Given the description of an element on the screen output the (x, y) to click on. 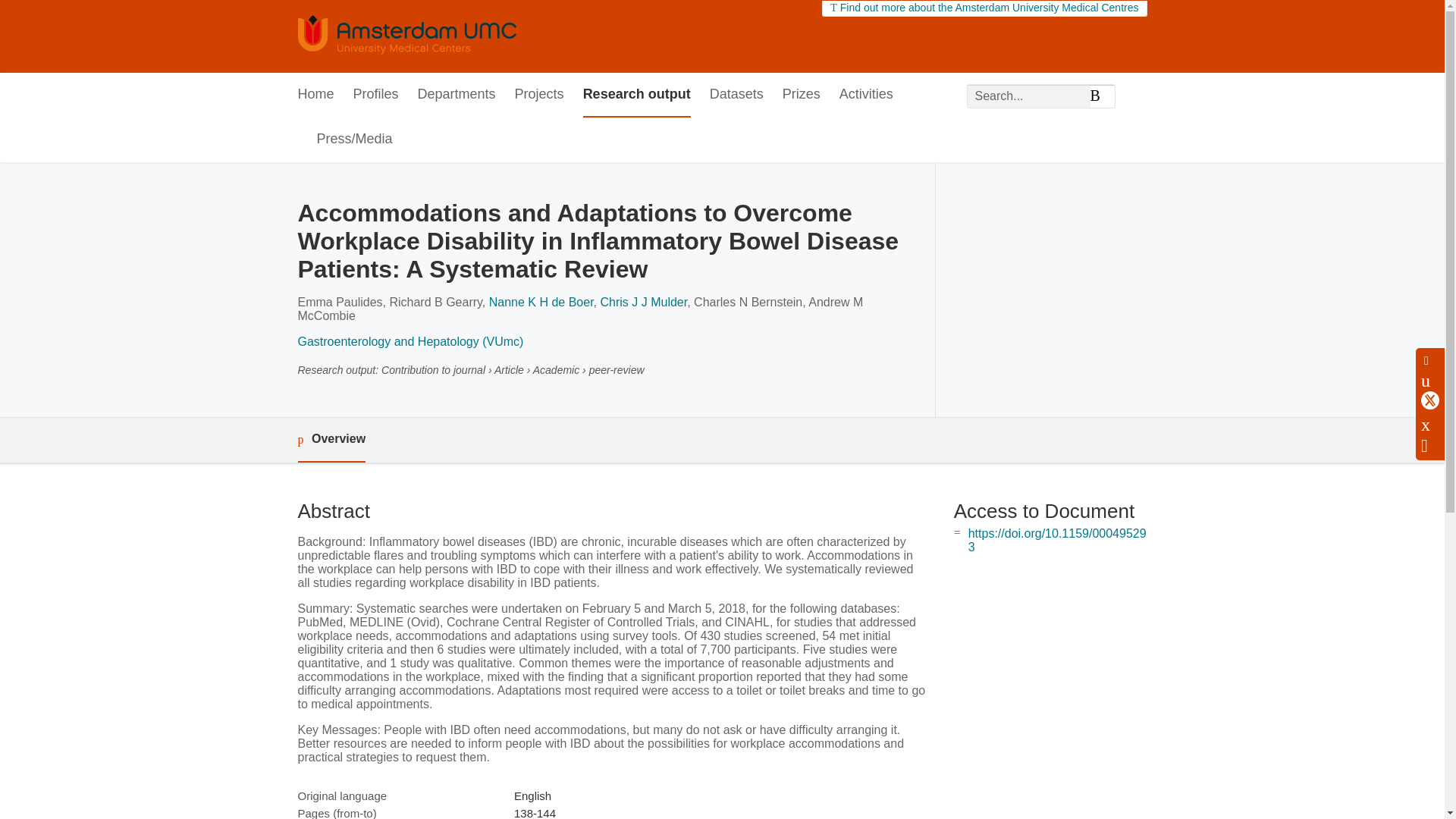
Prizes (802, 94)
Nanne K H de Boer (541, 301)
Activities (866, 94)
Amsterdam UMC research portal Home (406, 36)
Profiles (375, 94)
Chris J J Mulder (643, 301)
Datasets (736, 94)
Projects (539, 94)
Overview (331, 439)
Research output (636, 94)
Find out more about the Amsterdam University Medical Centres (983, 7)
Departments (456, 94)
Home (315, 94)
